Given the description of an element on the screen output the (x, y) to click on. 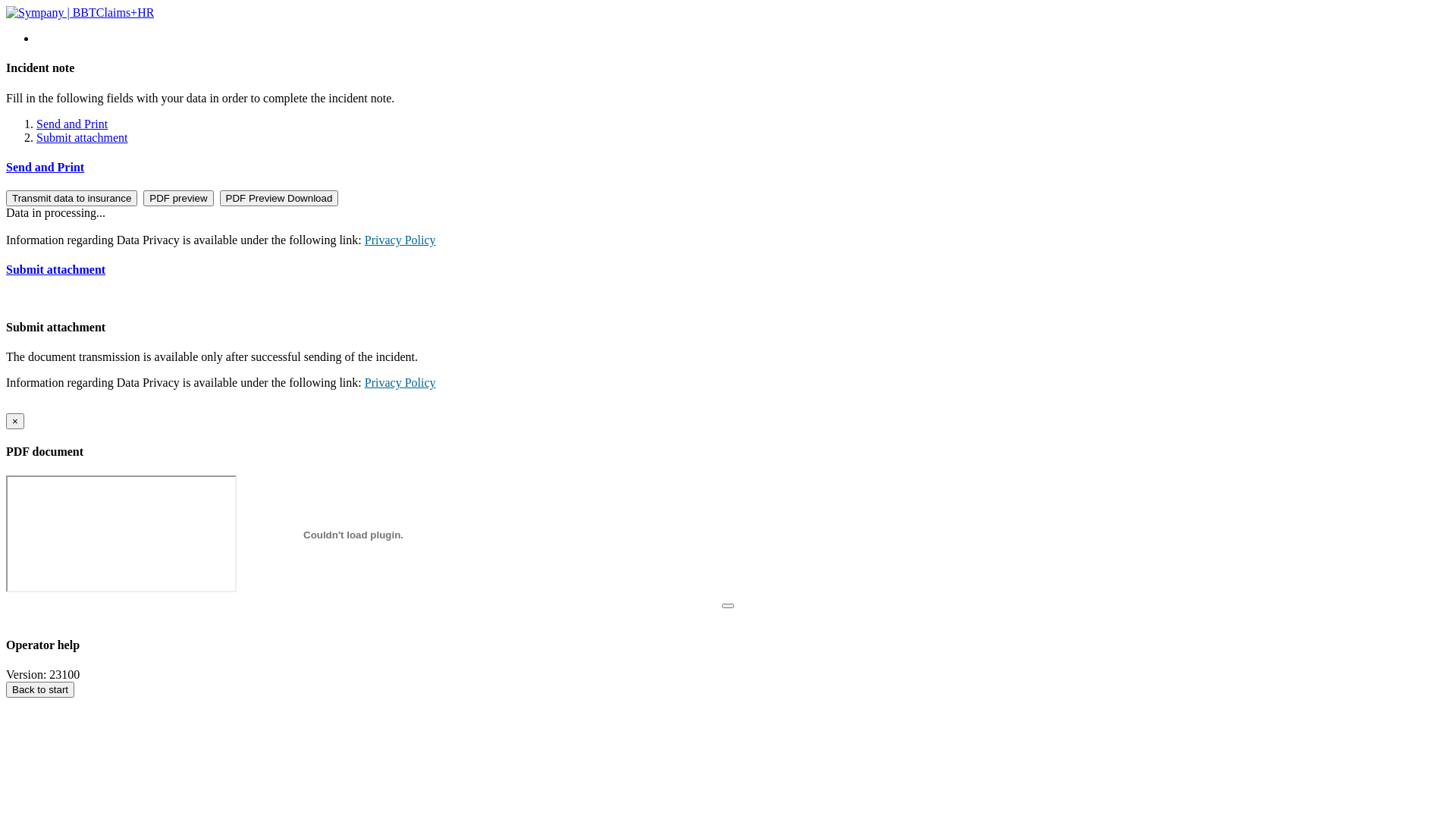
Submit attachment Element type: text (727, 269)
Start a new Incident Element type: text (50, 7)
PDF preview Element type: text (178, 198)
Open PDF Document Element type: text (54, 7)
Send and Print Element type: text (727, 167)
Privacy Policy Element type: text (400, 382)
PDF download Element type: text (39, 7)
Submit attachment Element type: text (81, 137)
Send and Print Element type: text (71, 123)
Transmit data to insurance Element type: text (71, 198)
Privacy Policy Element type: text (400, 239)
PDF Preview Download Element type: text (278, 198)
